Given the description of an element on the screen output the (x, y) to click on. 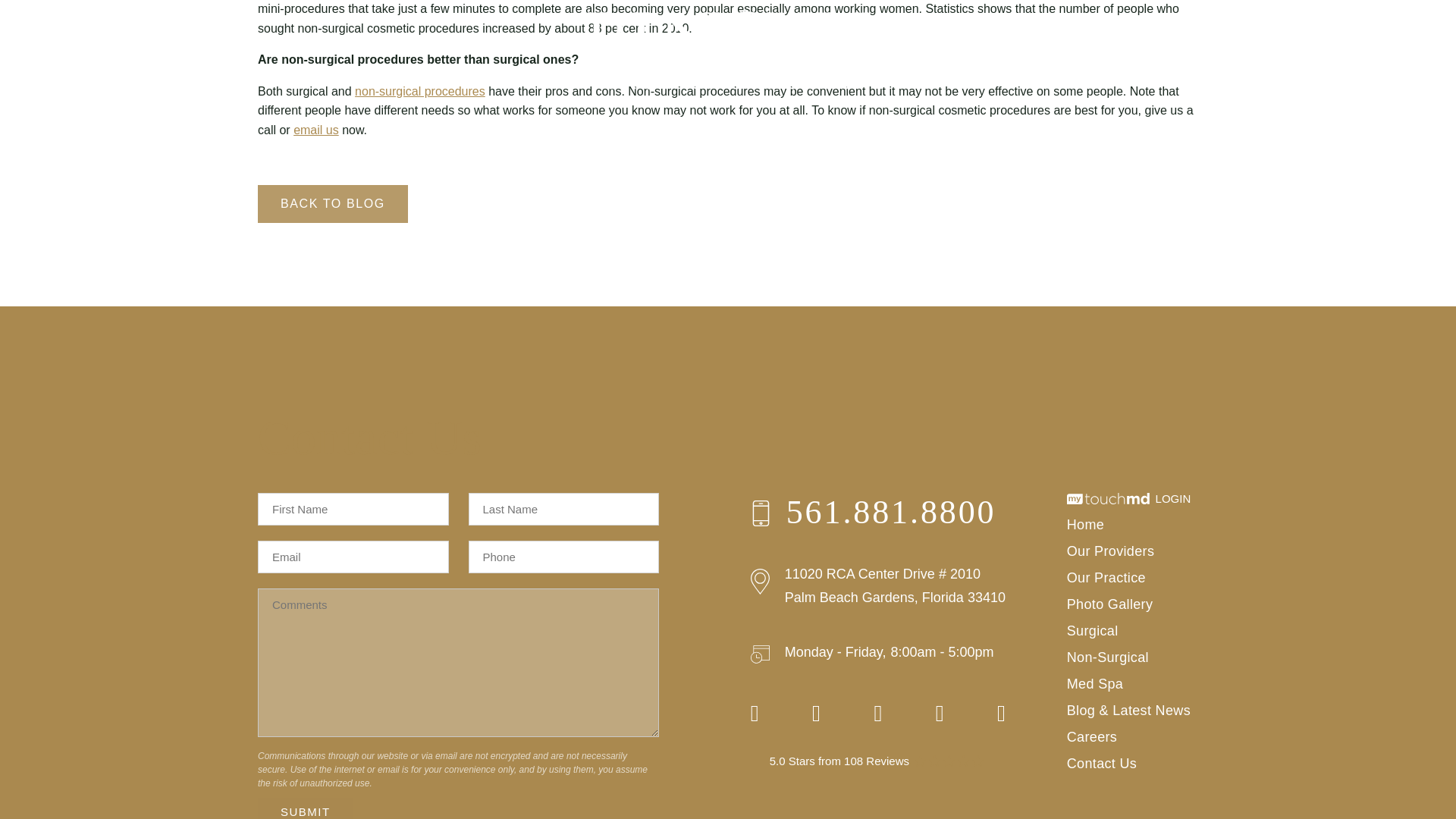
Submit (305, 808)
